Given the description of an element on the screen output the (x, y) to click on. 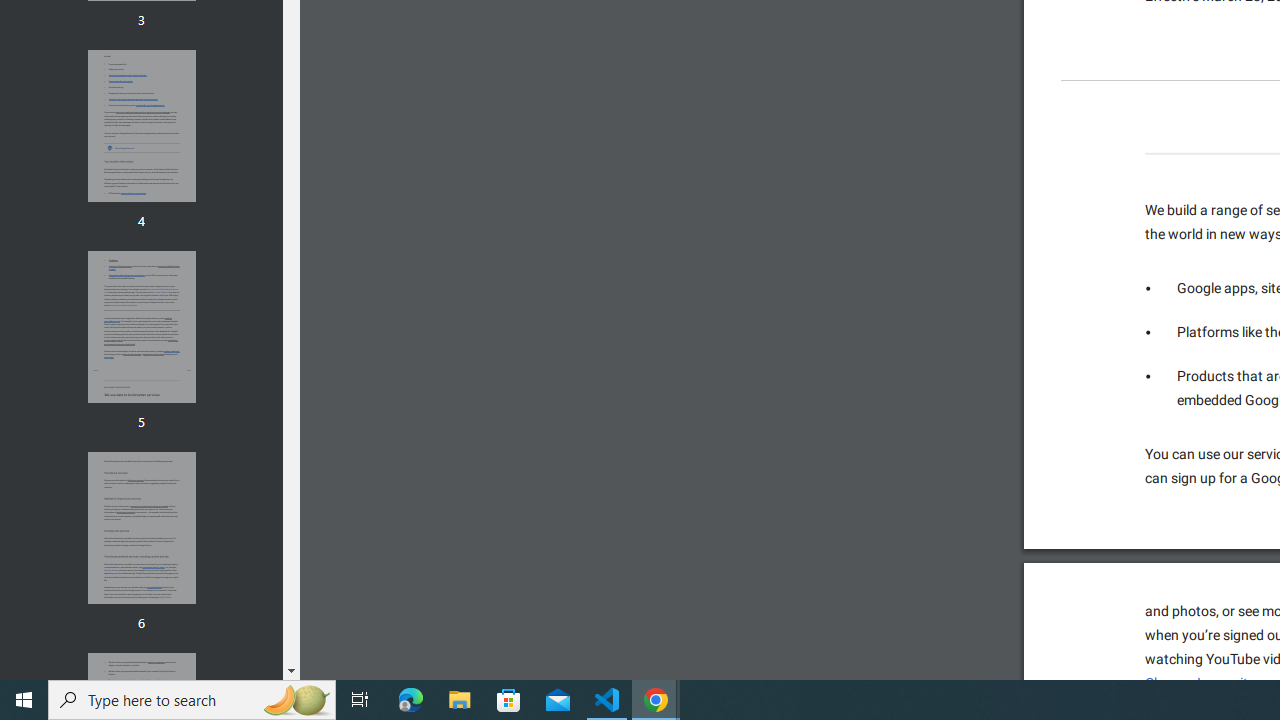
Thumbnail for page 4 (141, 125)
Chrome Incognito (1200, 683)
Thumbnail for page 5 (141, 326)
AutomationID: thumbnail (141, 528)
Thumbnail for page 6 (141, 528)
